Given the description of an element on the screen output the (x, y) to click on. 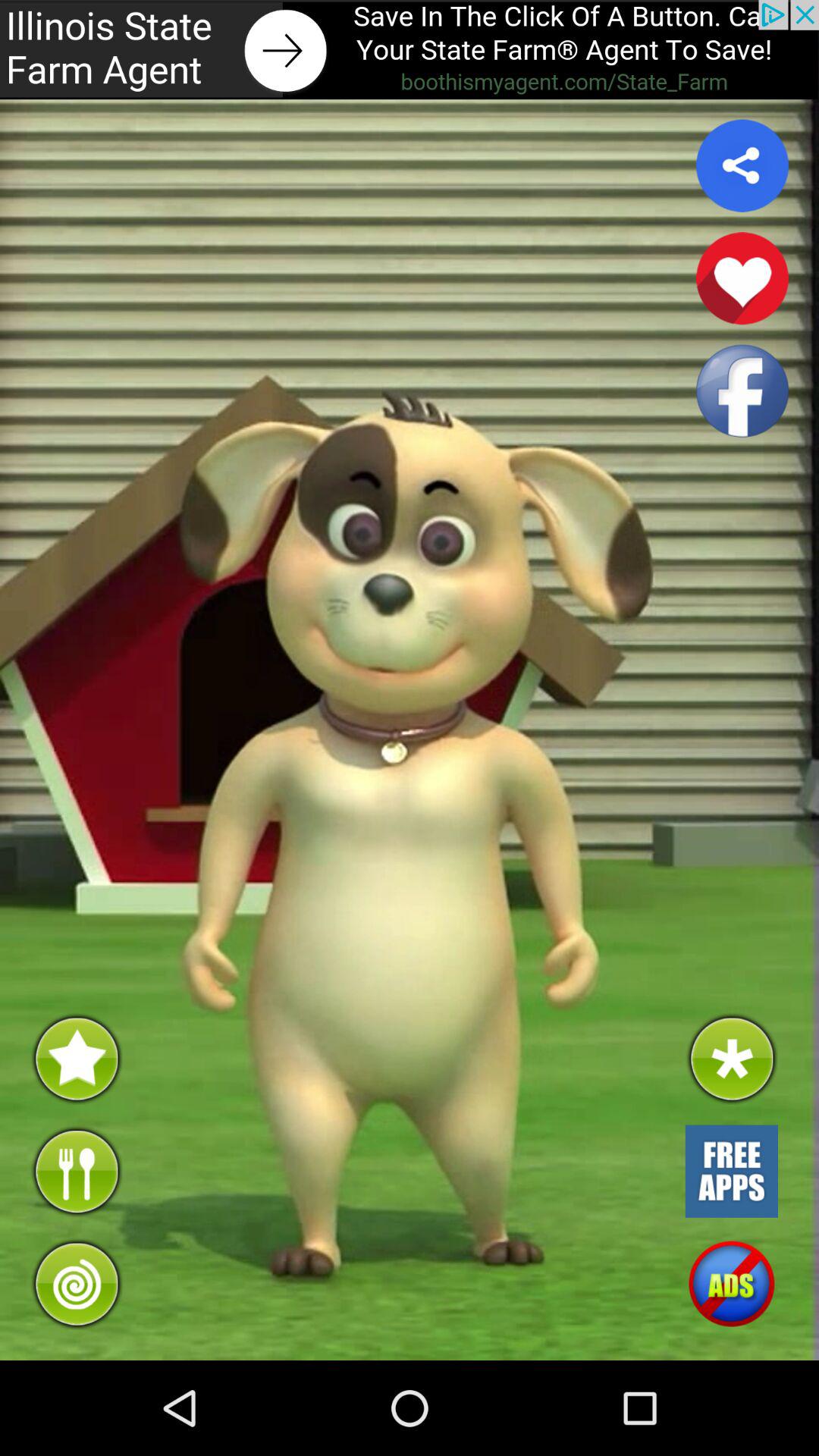
feed the pet (76, 1170)
